Given the description of an element on the screen output the (x, y) to click on. 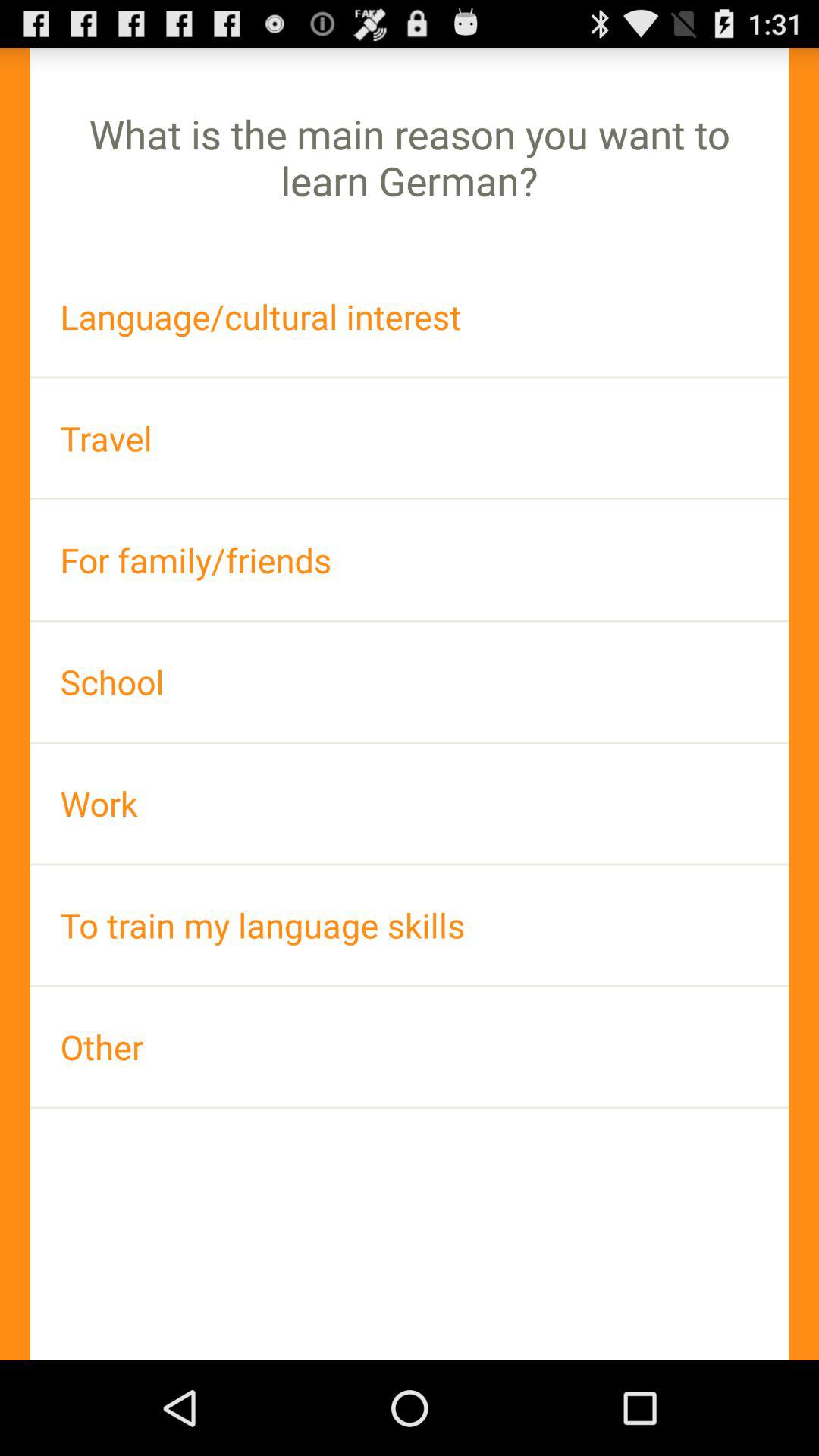
press the school item (409, 681)
